Given the description of an element on the screen output the (x, y) to click on. 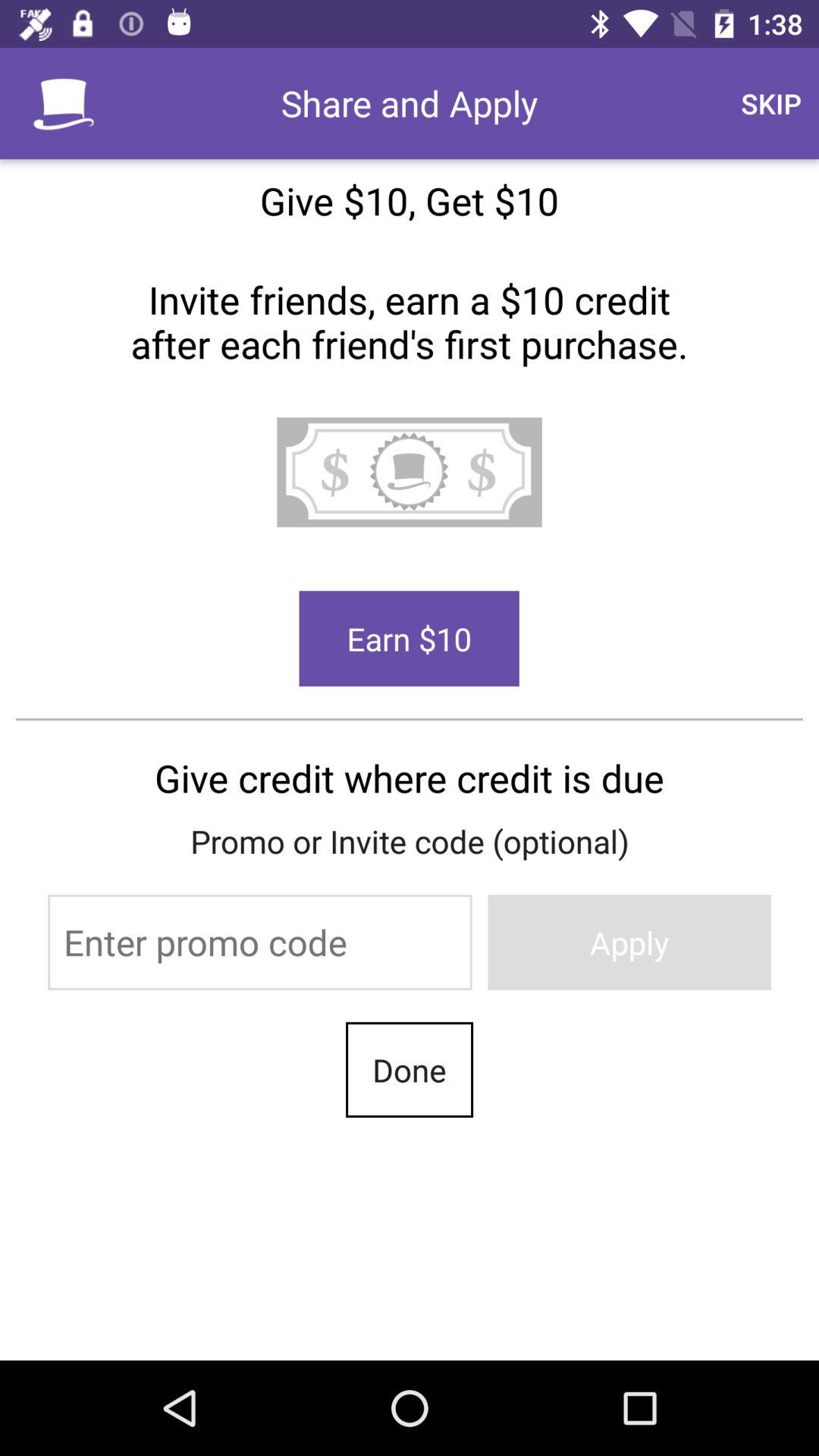
choose the item below the promo or invite item (259, 942)
